Given the description of an element on the screen output the (x, y) to click on. 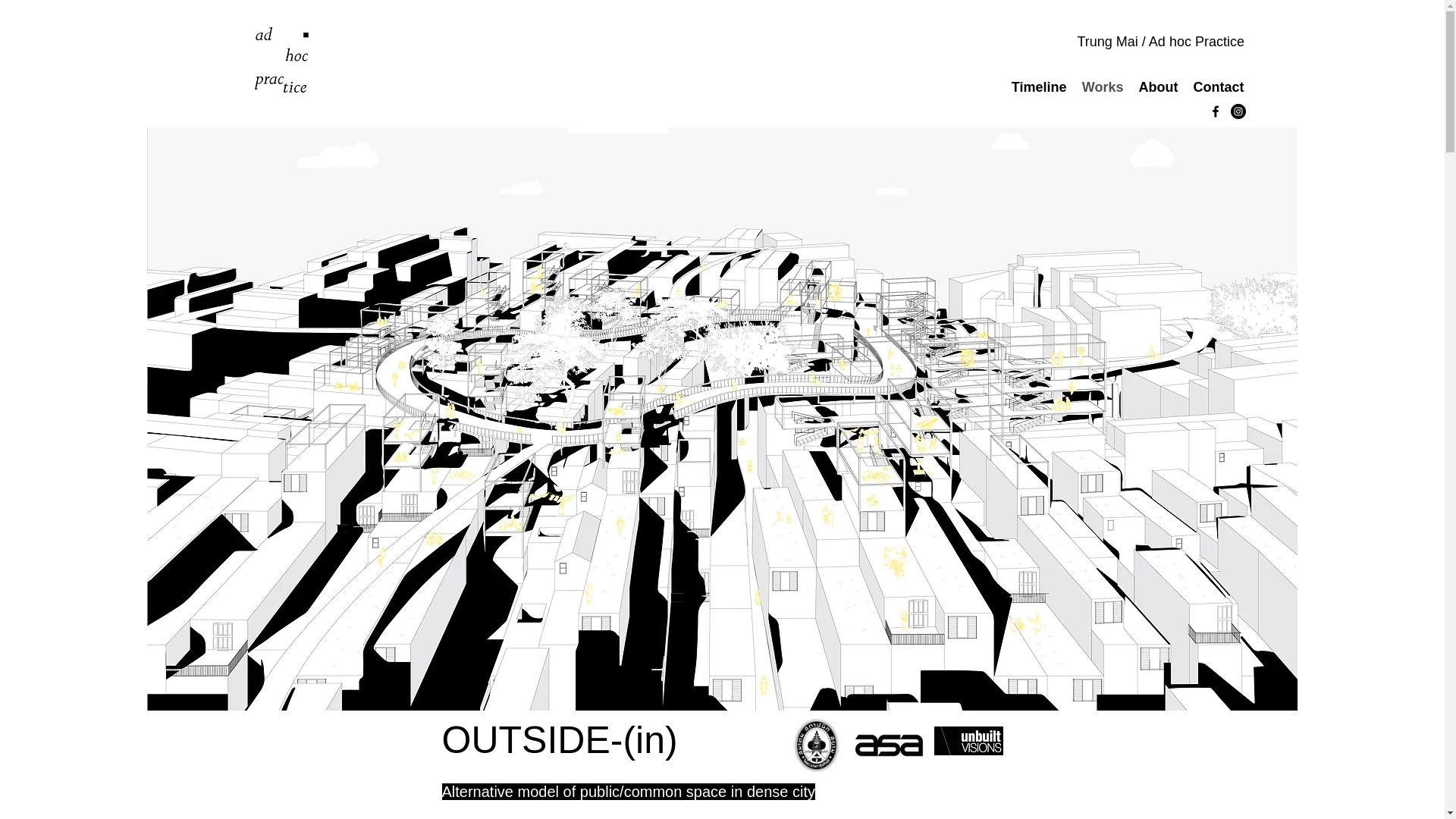
Contact (1219, 87)
Works (1102, 87)
About (1158, 87)
Timeline (1039, 87)
